Given the description of an element on the screen output the (x, y) to click on. 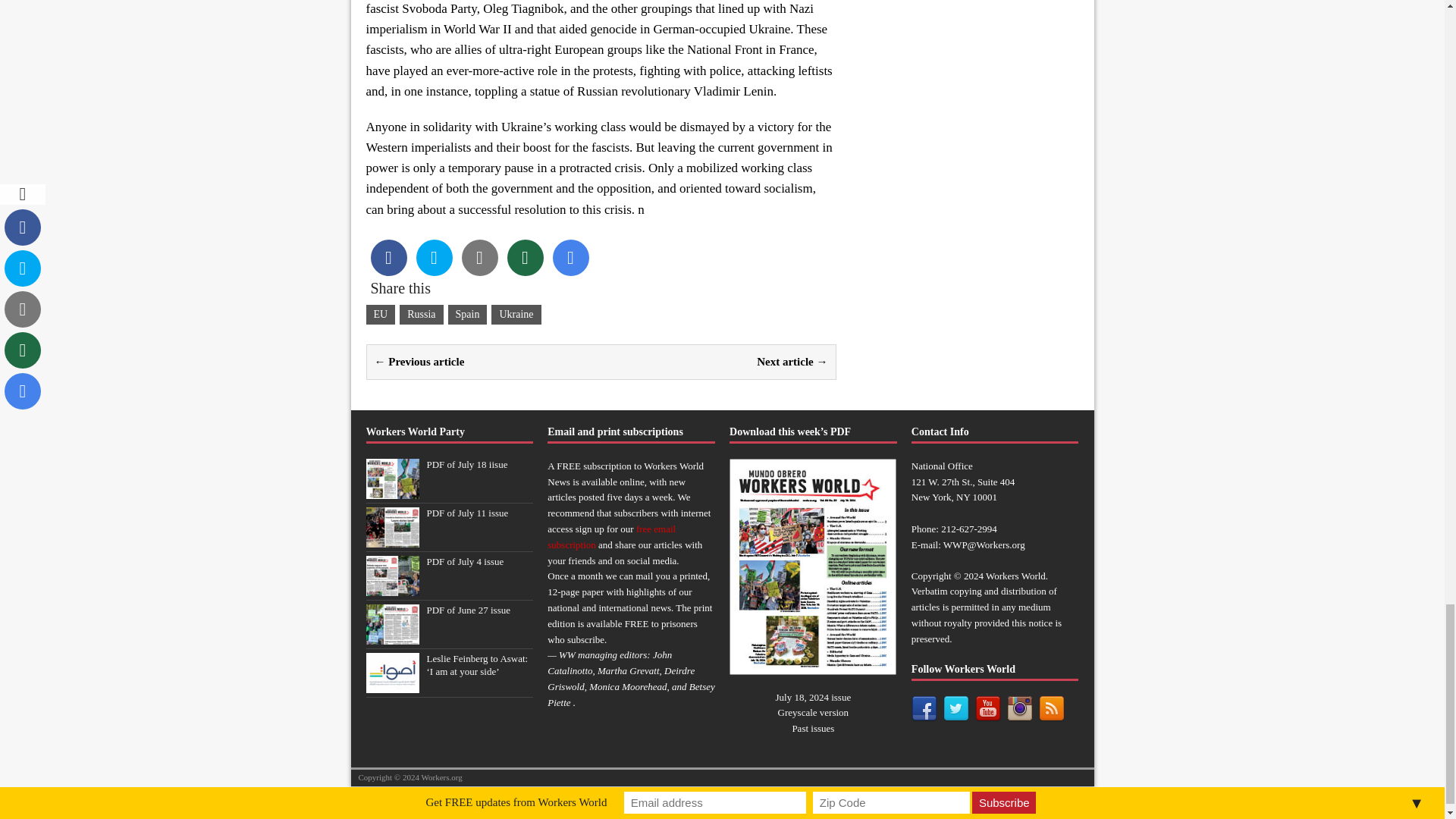
PDF of July 4 issue (464, 561)
PDF of June 27 issue (392, 635)
PDF of July 11 issue (467, 512)
PDF of July 18 iisue (392, 490)
PDF of June 27 issue (468, 609)
PDF of July 4 issue (392, 586)
PDF of July 11 issue (392, 538)
PDF of July 18 iisue (466, 464)
